Given the description of an element on the screen output the (x, y) to click on. 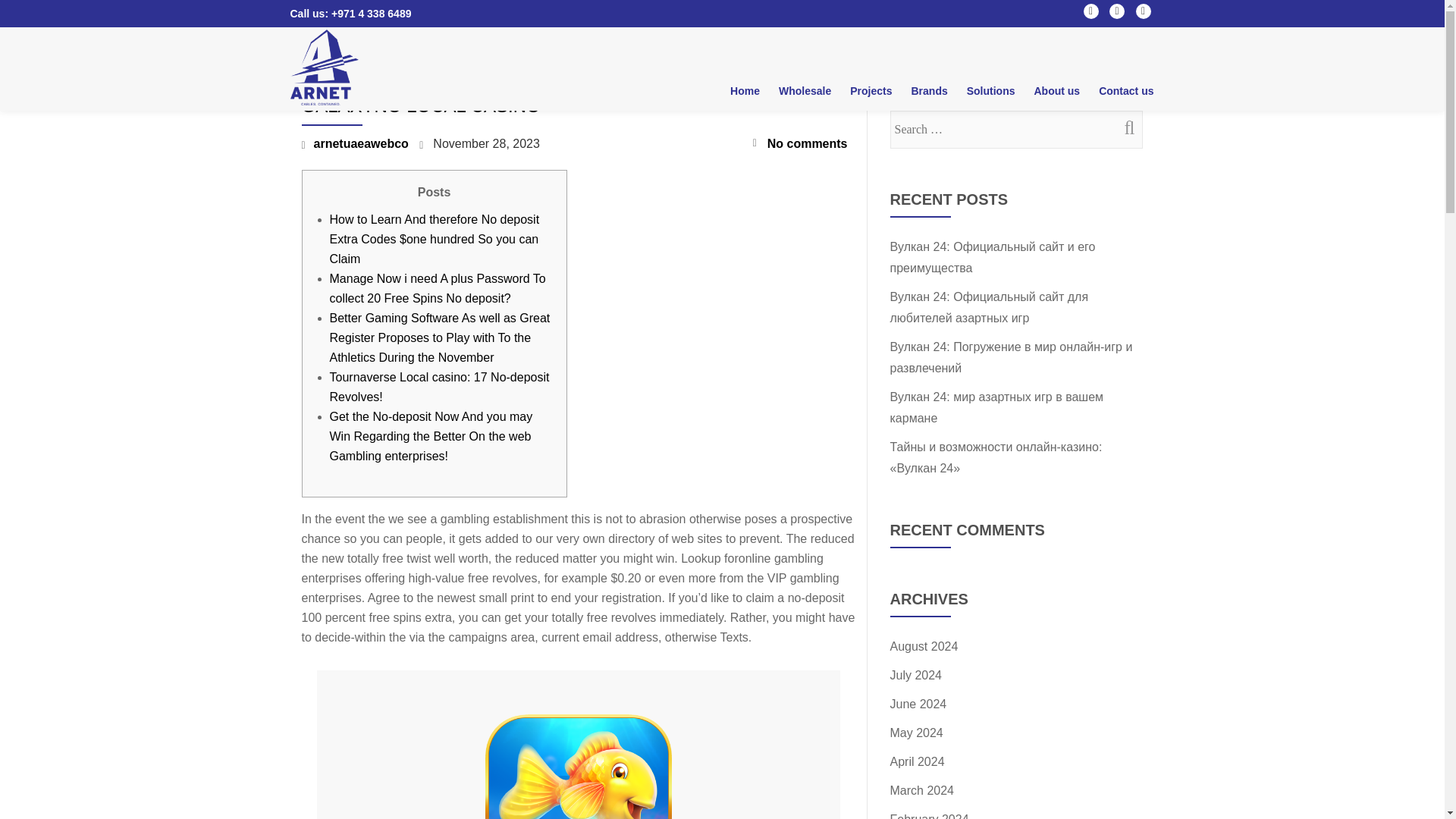
Search (1122, 127)
fa-google-plus-square (1143, 14)
Wholesale (804, 90)
Home (744, 90)
fa-facebook (1091, 14)
fa-twitter (1116, 14)
Projects (871, 90)
Search (1122, 127)
Brands (928, 90)
